Given the description of an element on the screen output the (x, y) to click on. 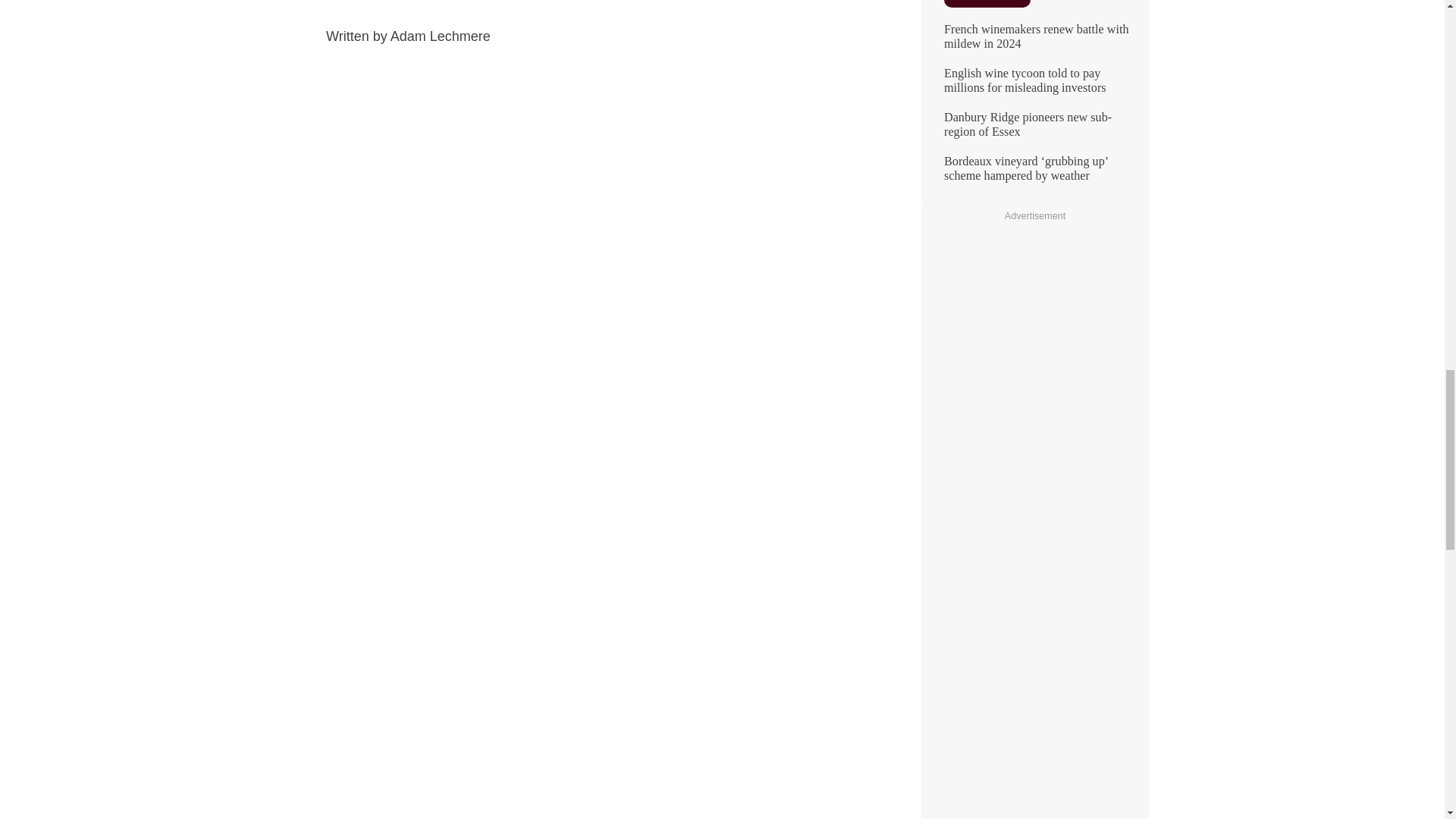
Baudains: Career-change winemakers (1035, 9)
Danbury Ridge pioneers new sub-region of Essex (1035, 130)
